Given the description of an element on the screen output the (x, y) to click on. 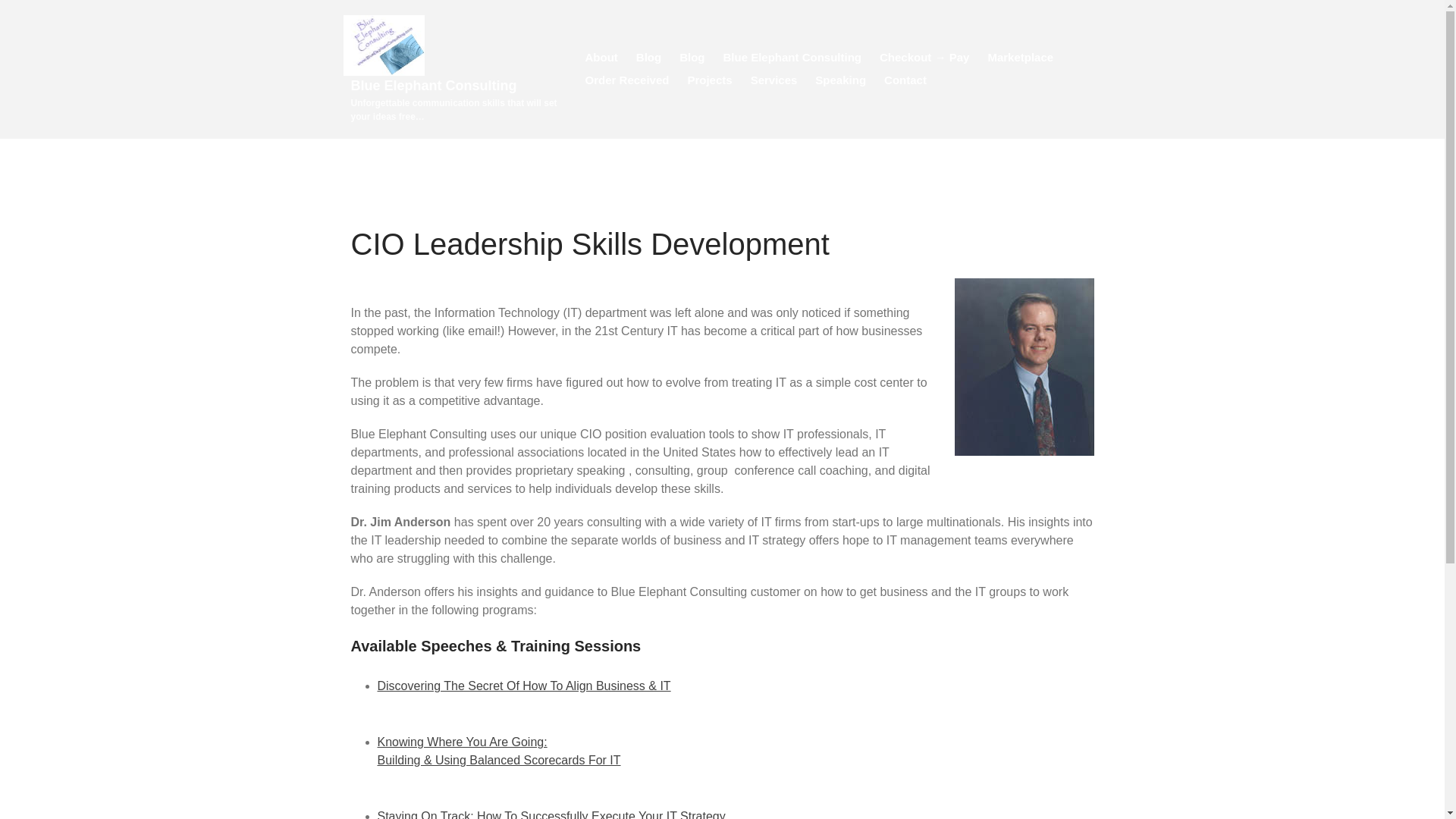
Blog (691, 56)
Blog (648, 56)
Blue Elephant Consulting (792, 56)
Blue Elephant Consulting (433, 85)
About (602, 56)
Marketplace (1020, 56)
